Given the description of an element on the screen output the (x, y) to click on. 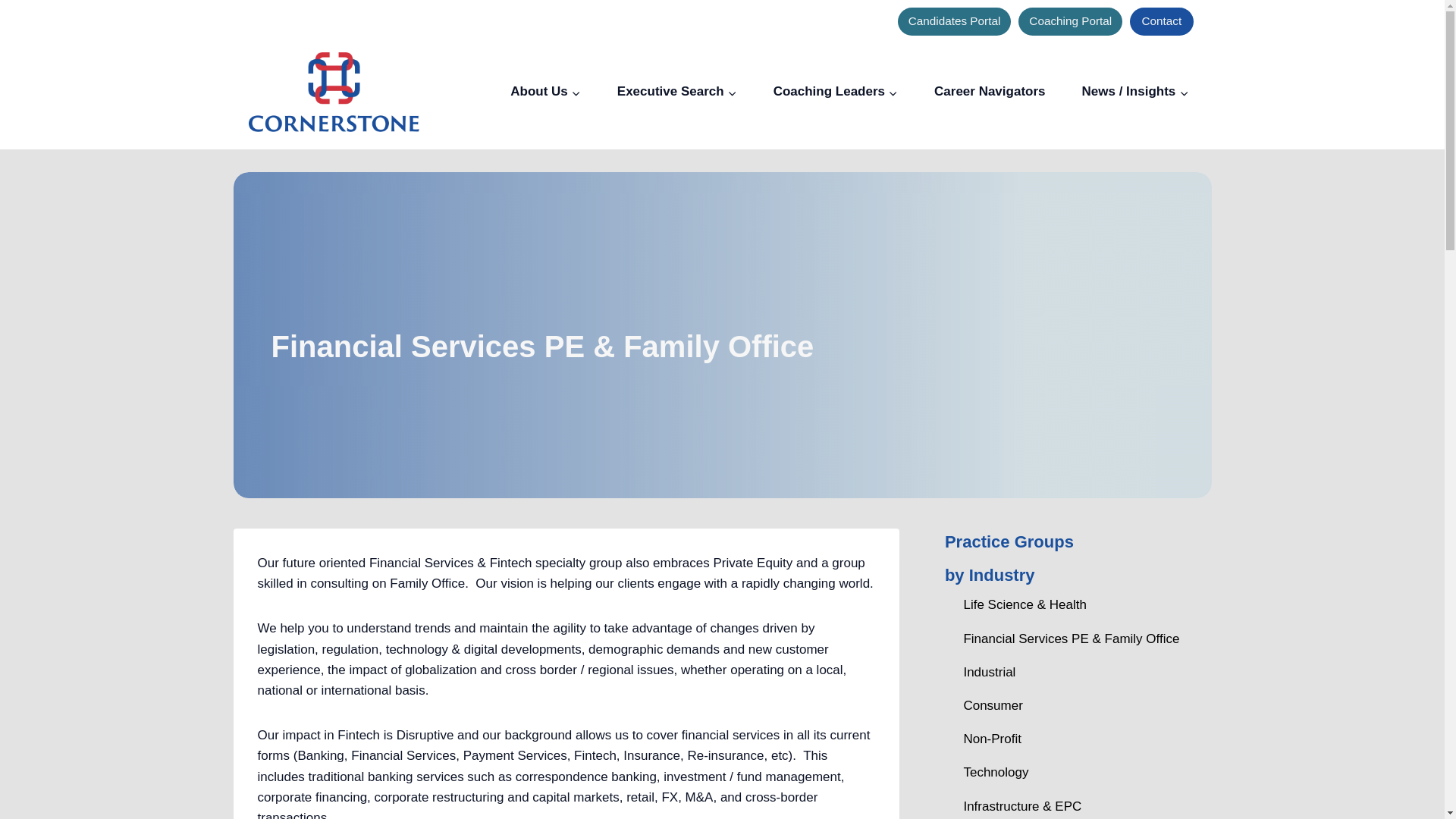
Career Navigators (989, 91)
Coaching Portal (1069, 21)
Candidates Portal (954, 21)
Executive Search (677, 91)
About Us (545, 91)
Contact (1160, 21)
Coaching Leaders (835, 91)
